Given the description of an element on the screen output the (x, y) to click on. 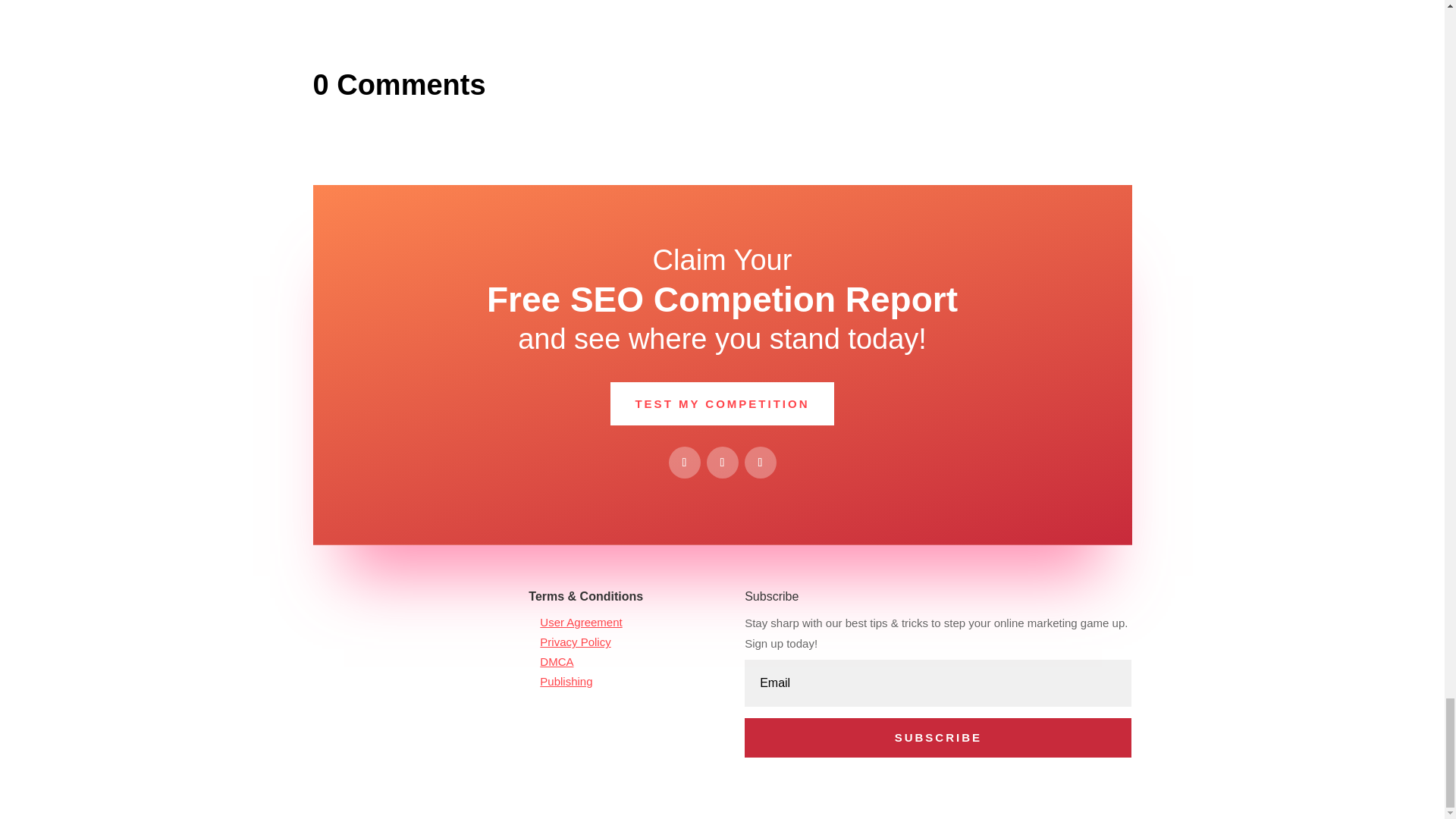
Follow on Youtube (760, 462)
Follow on X (722, 462)
Follow on Facebook (684, 462)
